Given the description of an element on the screen output the (x, y) to click on. 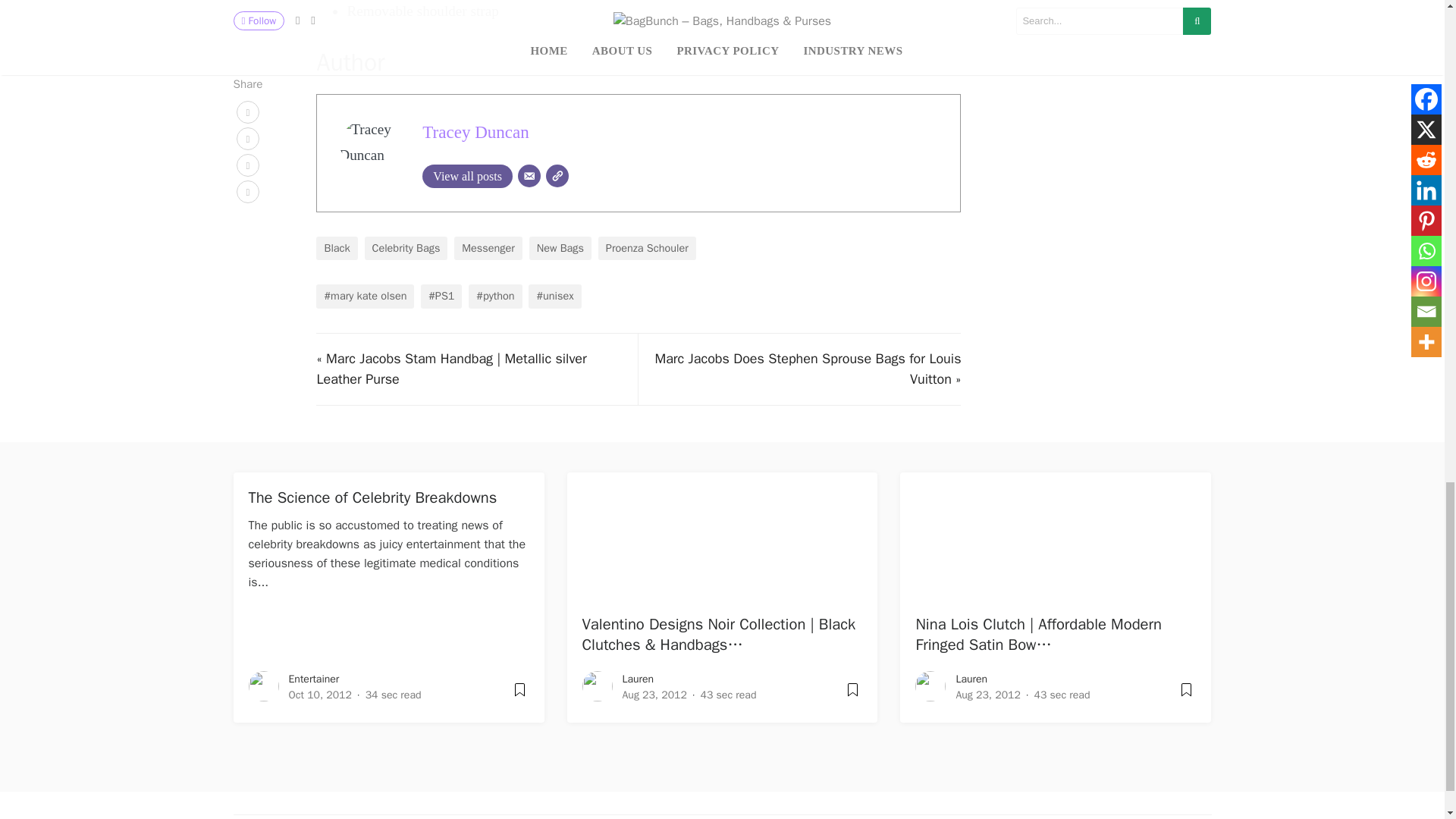
Tracey Duncan (475, 131)
Black (335, 248)
Tracey Duncan (475, 131)
View all posts (467, 176)
View all posts (467, 176)
